Given the description of an element on the screen output the (x, y) to click on. 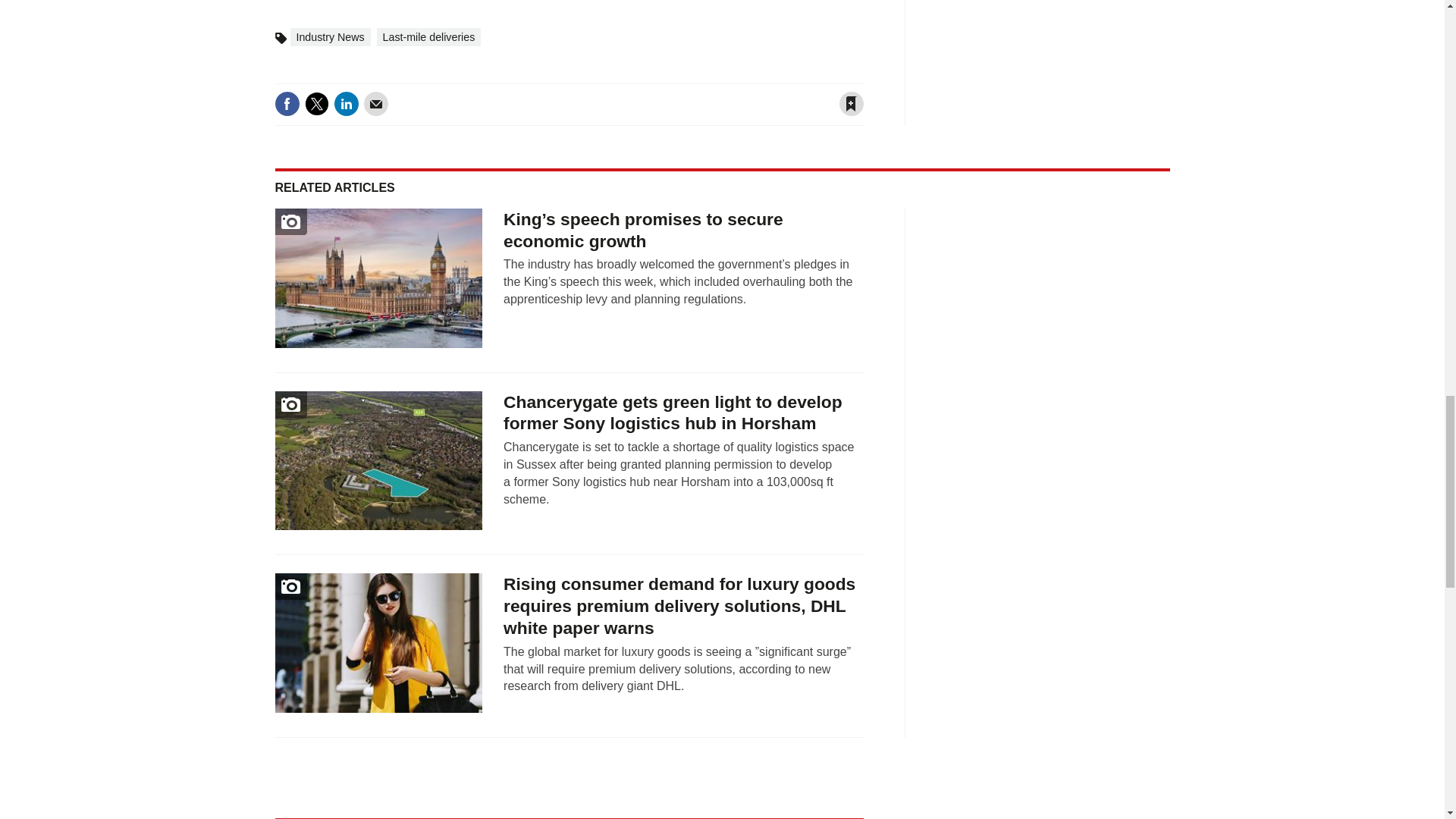
Share this on Linked in (345, 103)
3rd party ad content (1056, 54)
Share this on Twitter (316, 103)
Email this article (376, 103)
Share this on Facebook (286, 103)
